Given the description of an element on the screen output the (x, y) to click on. 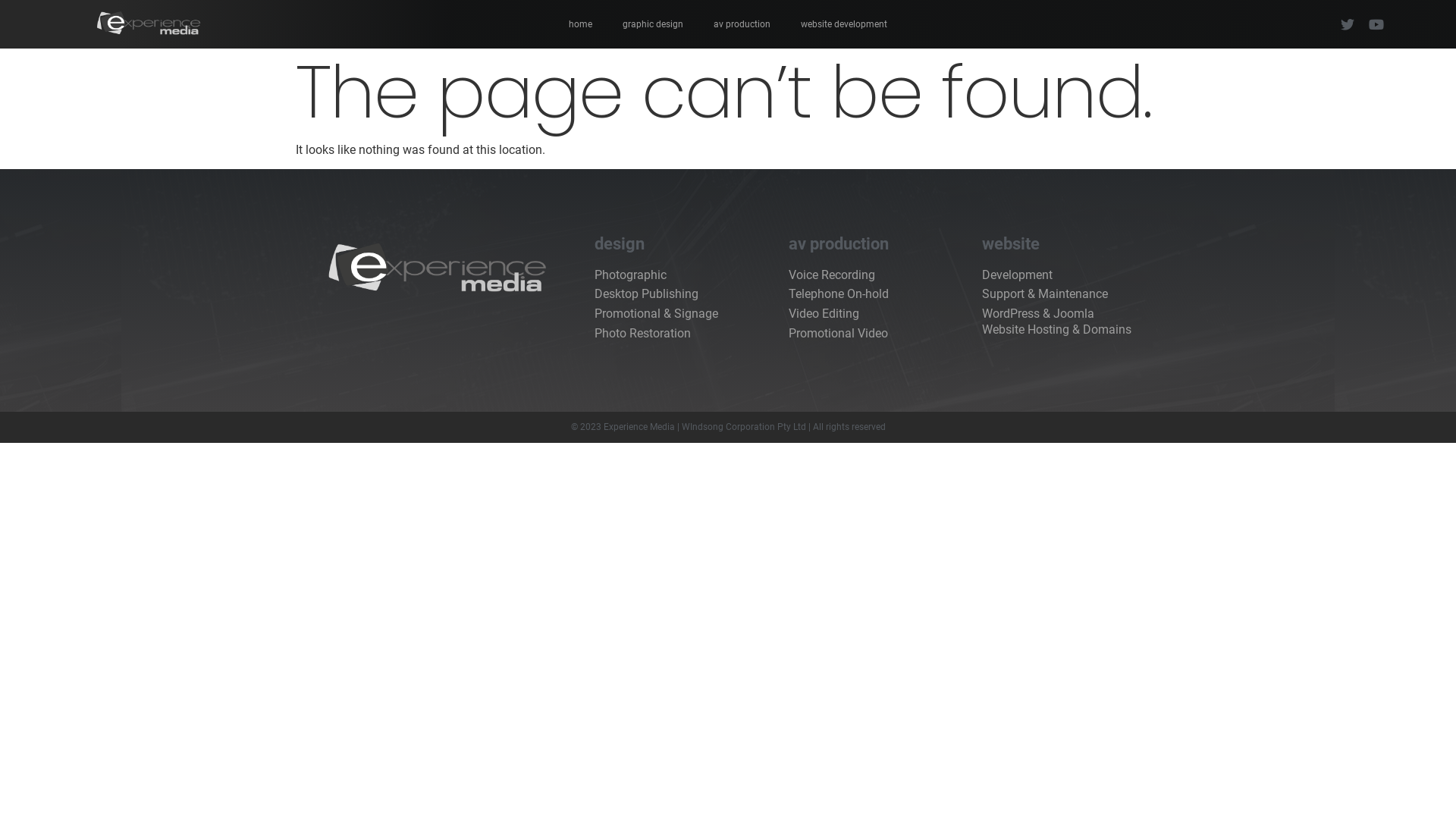
home Element type: text (580, 23)
graphic design Element type: text (652, 23)
av production Element type: text (741, 23)
website development Element type: text (843, 23)
